Given the description of an element on the screen output the (x, y) to click on. 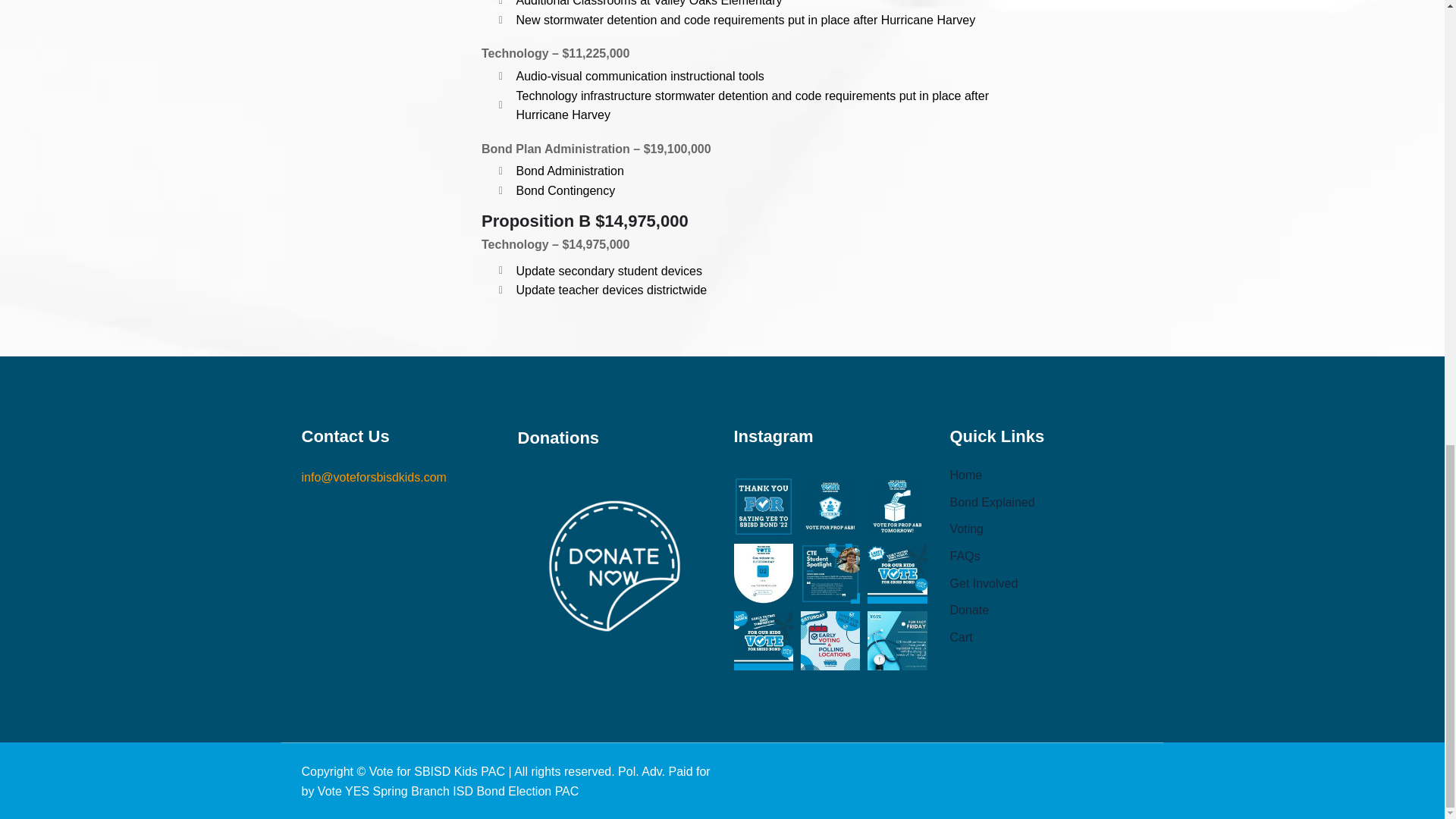
Bond Explained (991, 502)
Home (965, 474)
